Given the description of an element on the screen output the (x, y) to click on. 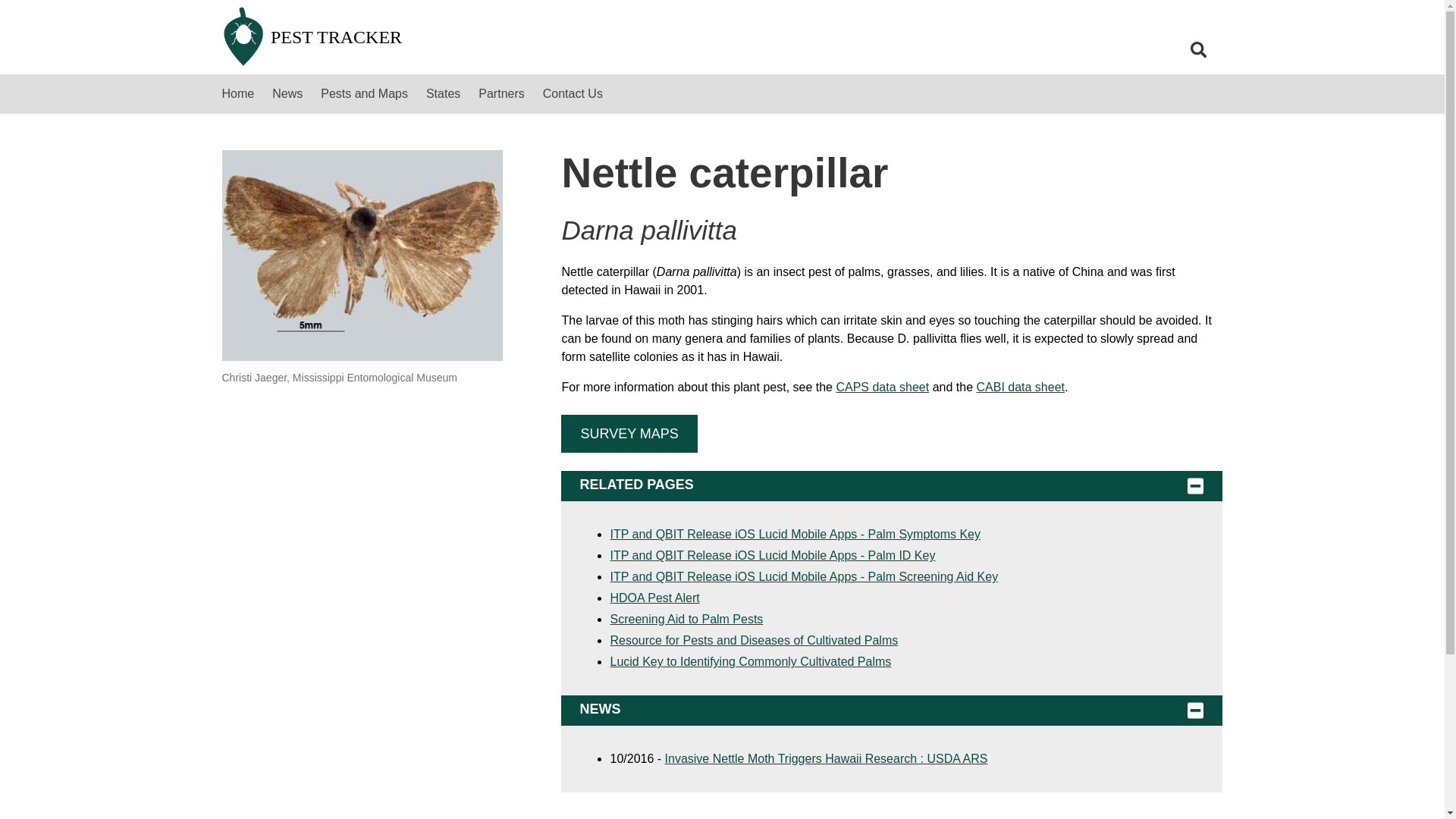
Screening Aid to Palm Pests (686, 618)
Home (237, 93)
HDOA Pest Alert (654, 597)
Lucid Key to Identifying Commonly Cultivated Palms (750, 661)
ITP and QBIT Release iOS Lucid Mobile Apps - Palm ID Key (772, 554)
Resource for Pests and Diseases of Cultivated Palms (754, 640)
News (287, 93)
States (442, 93)
Pests and Maps (363, 93)
PEST TRACKER (491, 37)
NEWS (891, 710)
RELATED PAGES (891, 485)
Invasive Nettle Moth Triggers Hawaii Research : USDA ARS (826, 758)
CAPS data sheet (881, 386)
